Given the description of an element on the screen output the (x, y) to click on. 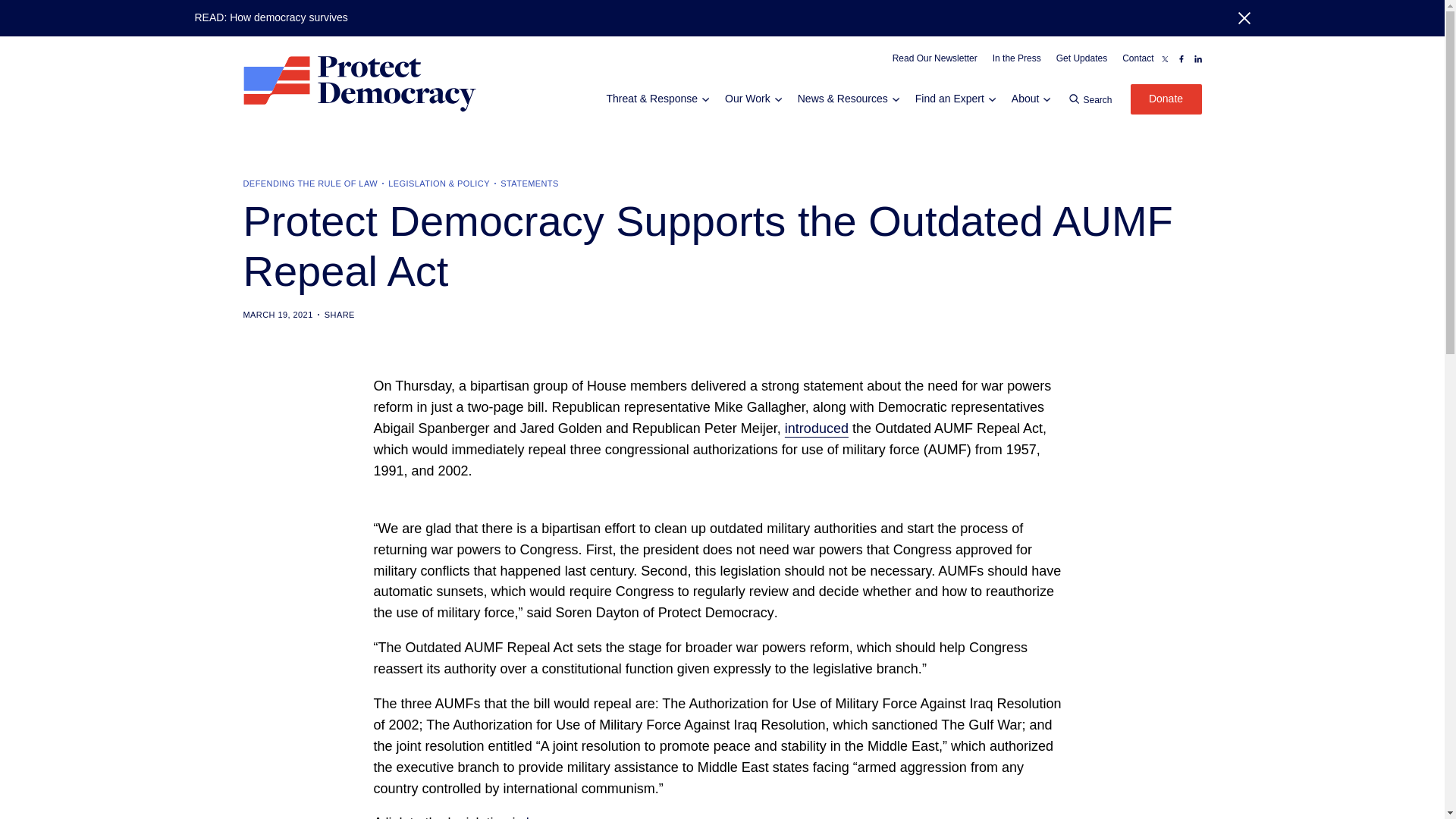
About (1027, 98)
In the Press (1016, 59)
Get Updates (1081, 59)
Link to linkedin (1197, 59)
Home (359, 84)
Our Work (749, 98)
Find an Expert (951, 98)
Link to twitter (1165, 58)
Read Our Newsletter (934, 59)
Contact (1137, 59)
